Given the description of an element on the screen output the (x, y) to click on. 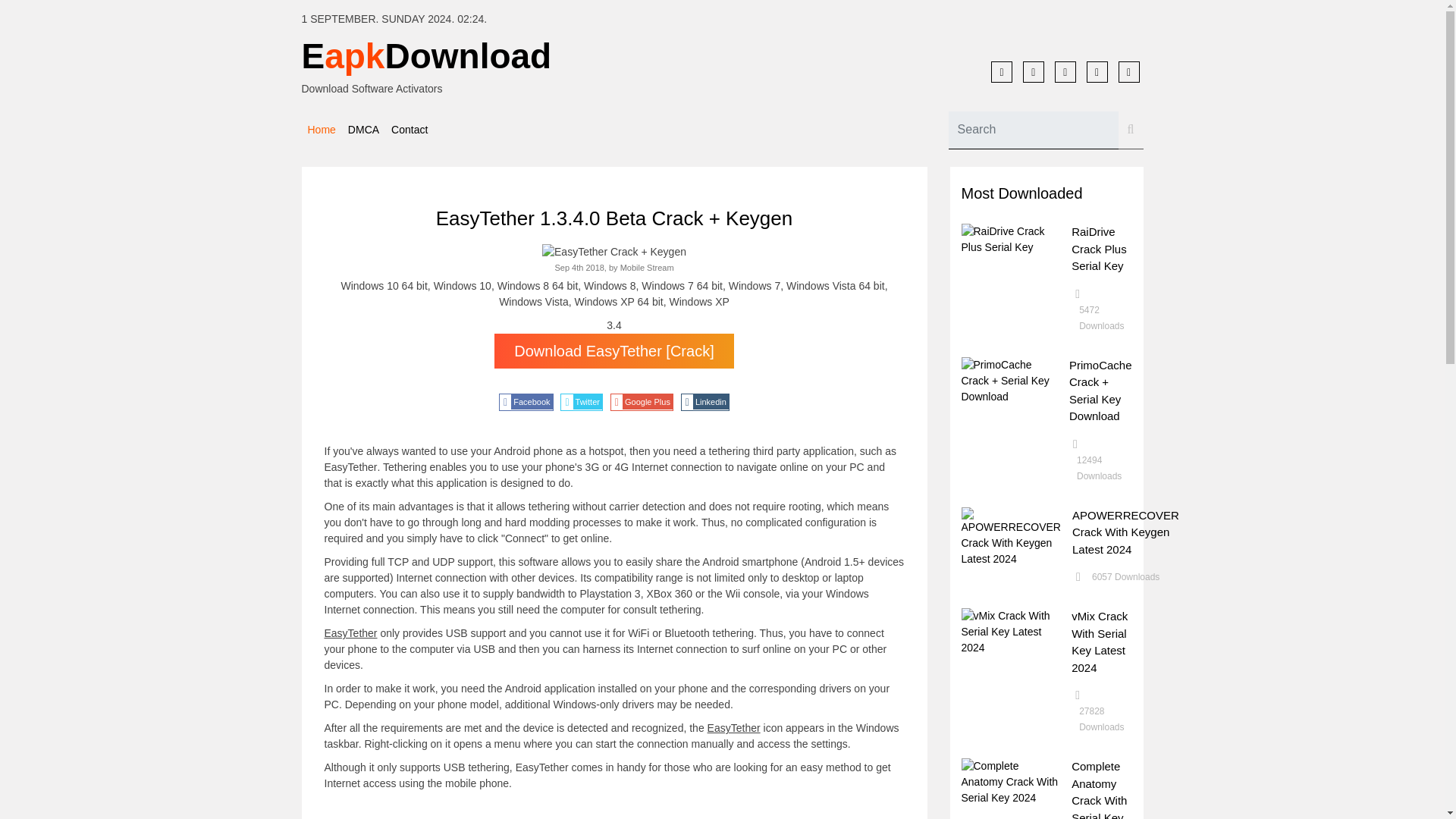
RaiDrive Crack Plus Serial Key (1098, 248)
Facebook (526, 402)
Linkedin (705, 402)
Contact (409, 129)
Twitter (581, 402)
DMCA (363, 129)
APOWERRECOVER Crack With Keygen Latest 2024 (1125, 531)
Google Plus (641, 402)
EapkDownload (506, 55)
